Given the description of an element on the screen output the (x, y) to click on. 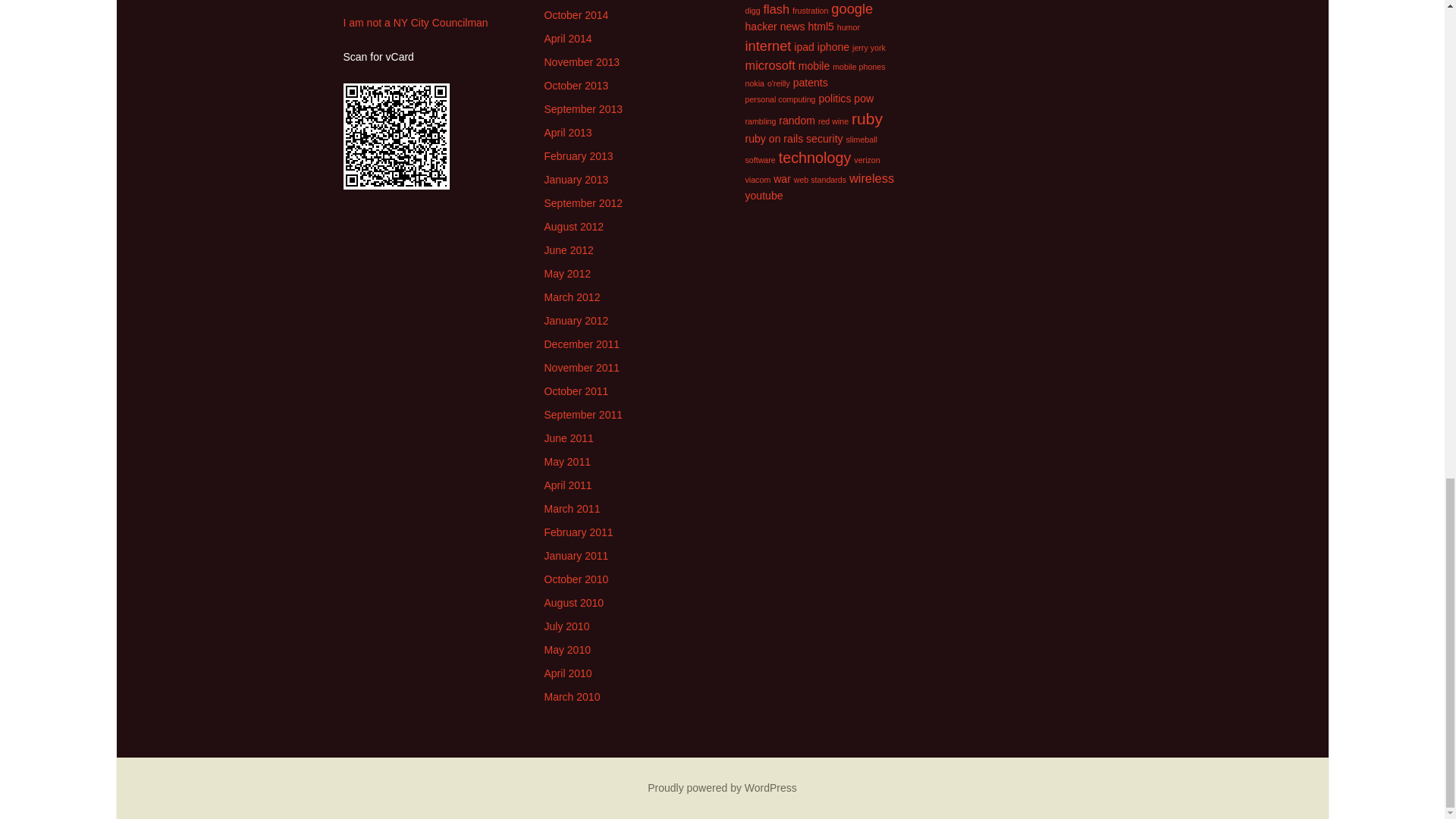
September 2013 (583, 109)
January 2012 (576, 320)
September 2012 (583, 203)
May 2011 (567, 461)
I am not a NY City Councilman (414, 22)
April 2014 (568, 38)
October 2014 (576, 15)
September 2011 (583, 414)
June 2011 (569, 438)
February 2013 (578, 155)
December 2011 (582, 344)
January 2013 (576, 179)
November 2013 (582, 61)
October 2011 (576, 390)
April 2011 (568, 485)
